Given the description of an element on the screen output the (x, y) to click on. 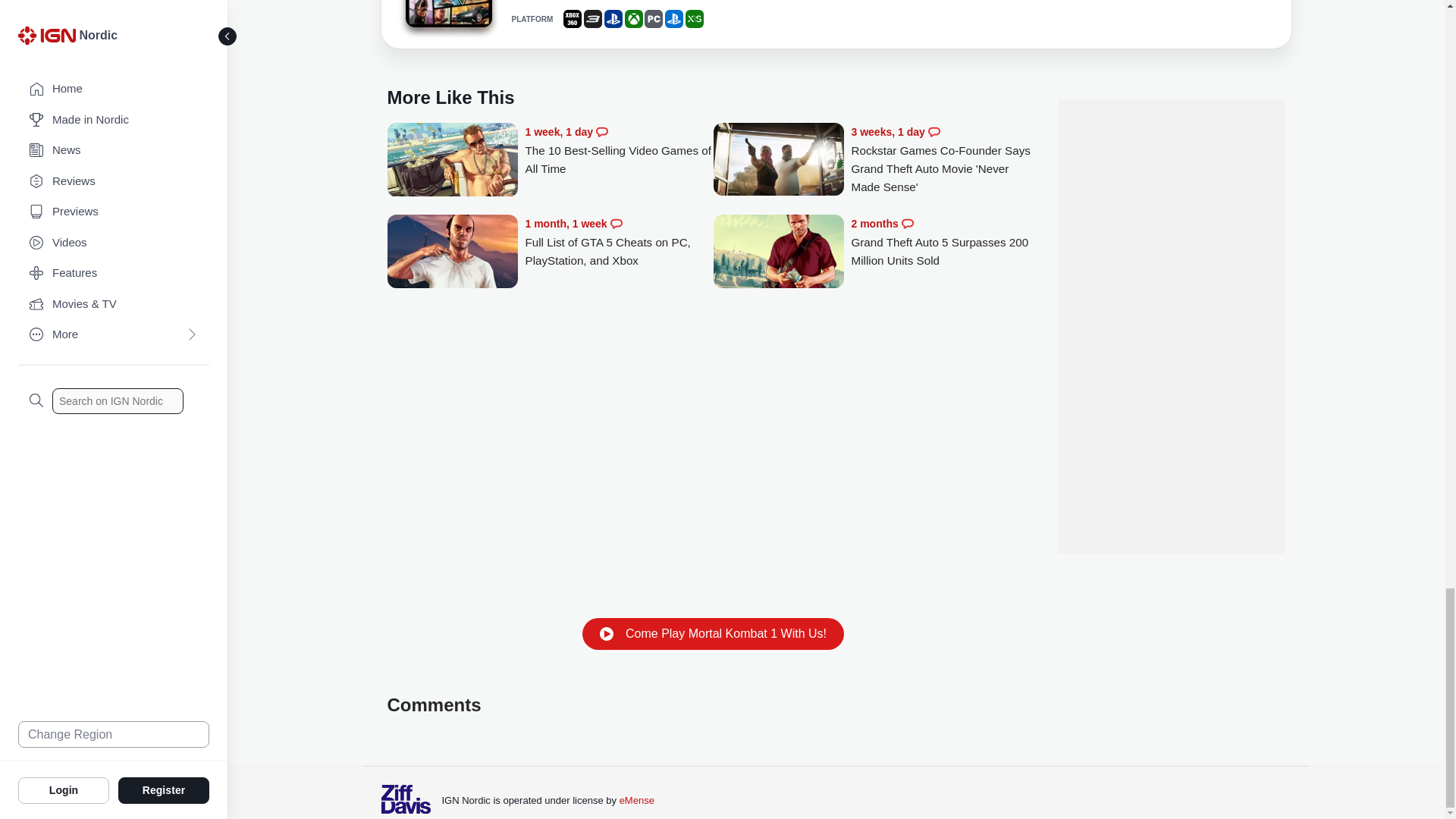
XBOXONE (633, 18)
The 10 Best-Selling Video Games of All Time (618, 150)
Full List of GTA 5 Cheats on PC, PlayStation, and Xbox (451, 252)
PS3 (592, 18)
grand-theft-auto-v (448, 13)
The 10 Best-Selling Video Games of All Time (451, 160)
PS4 (613, 18)
Grand Theft Auto 5 Surpasses 200 Million Units Sold (778, 252)
PC (653, 18)
grand-theft-auto-v (448, 15)
Grand Theft Auto 5 Surpasses 200 Million Units Sold (944, 242)
Full List of GTA 5 Cheats on PC, PlayStation, and Xbox (618, 242)
